Given the description of an element on the screen output the (x, y) to click on. 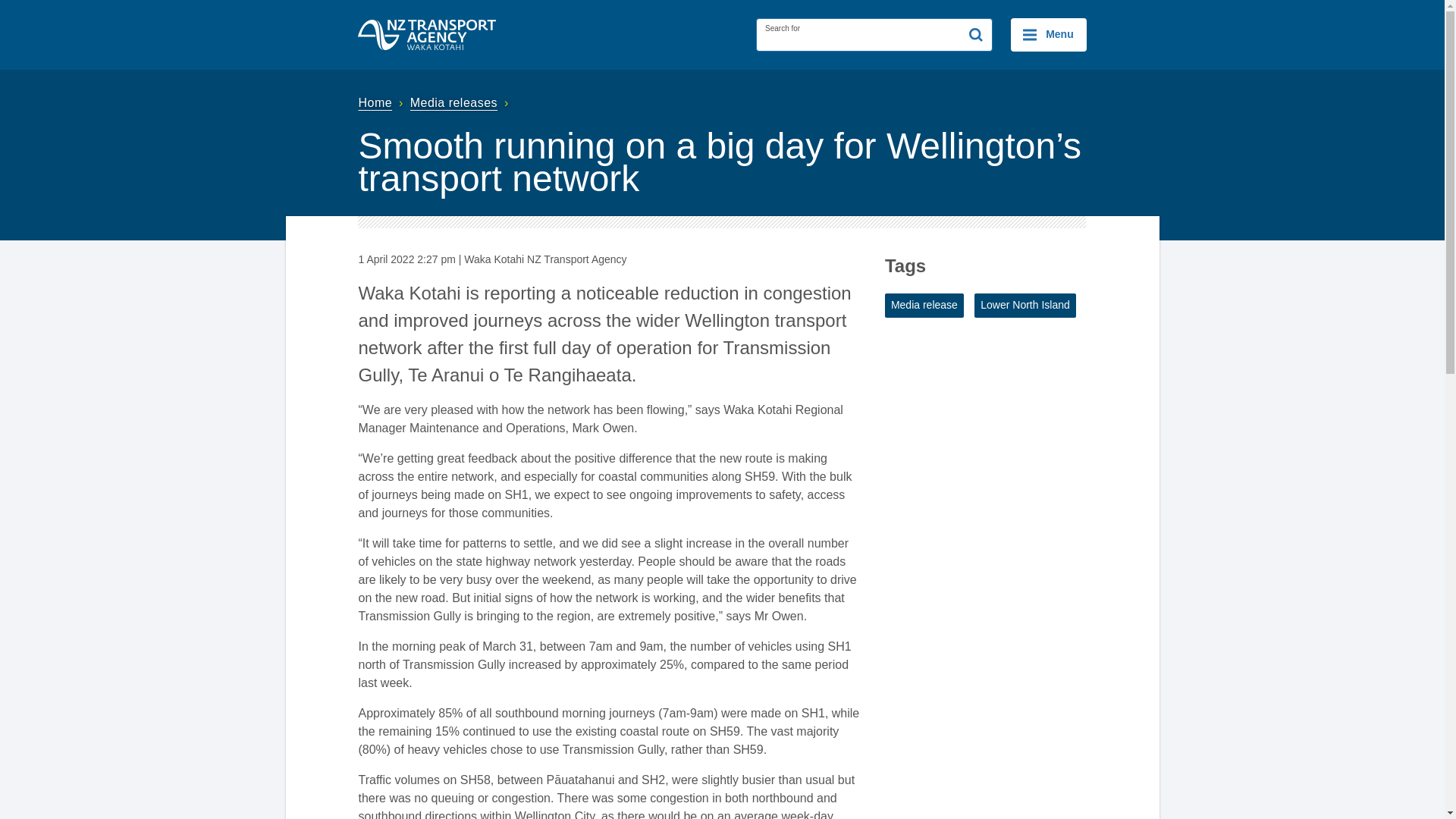
View all posts tagged 'Lower North Island' (1024, 305)
Menu (1048, 34)
Home (382, 102)
NZ Transport Agency Waka Kotahi (427, 34)
View all posts tagged 'Media release' (924, 305)
